Given the description of an element on the screen output the (x, y) to click on. 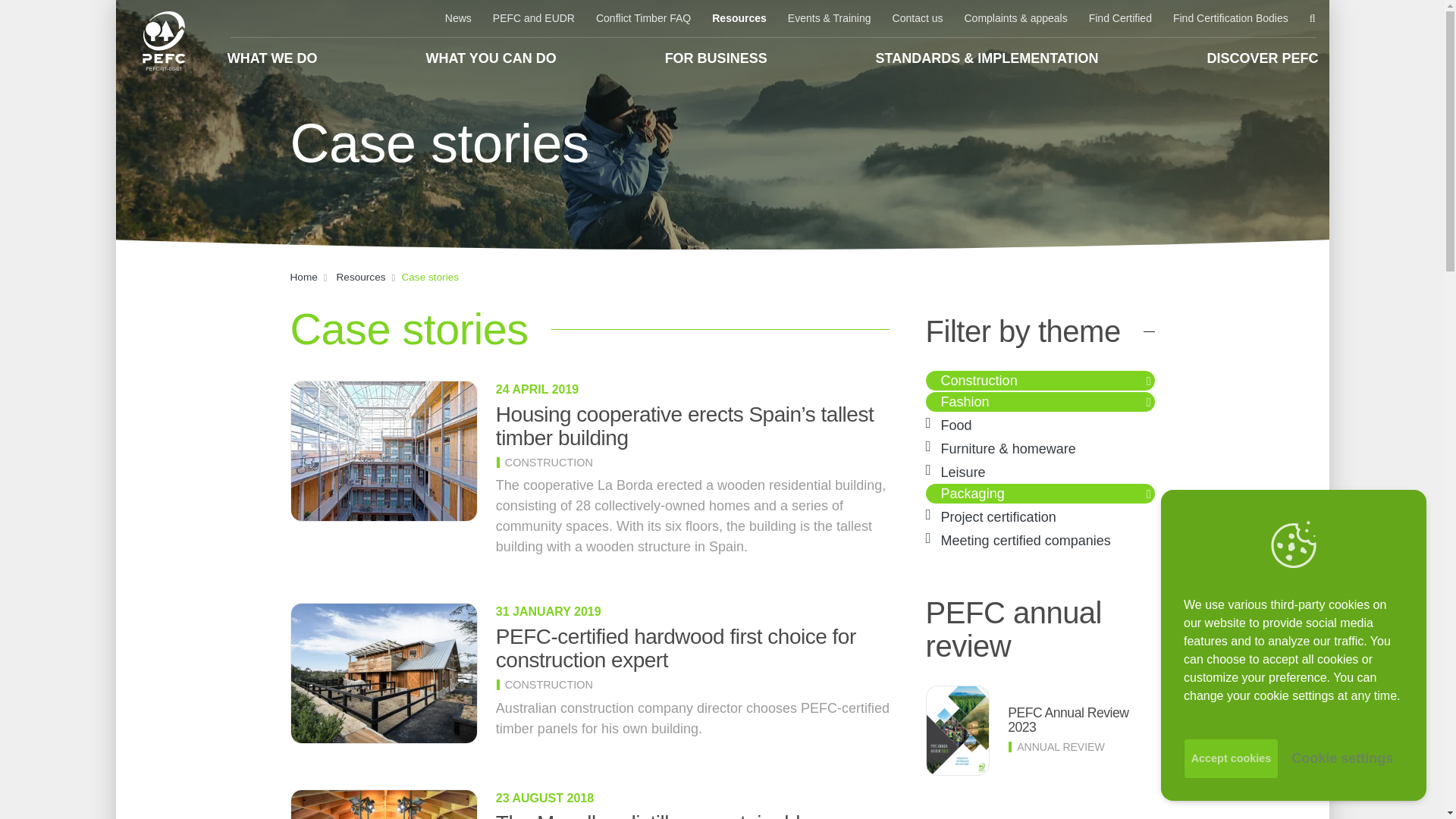
Remove filter (1150, 401)
Conflict Timber FAQ (643, 18)
Find Certified (1119, 18)
Filter by Construction (978, 380)
Filter by Meeting certified companies (1025, 540)
Find Certification Bodies (1229, 18)
WHAT YOU CAN DO (490, 58)
Filter by Leisure (962, 472)
Filter by Packaging (972, 493)
News (457, 18)
Resources (739, 18)
WHAT WE DO (272, 58)
PEFC and EUDR (533, 18)
Accept cookies (1231, 758)
Remove filter (1150, 493)
